Given the description of an element on the screen output the (x, y) to click on. 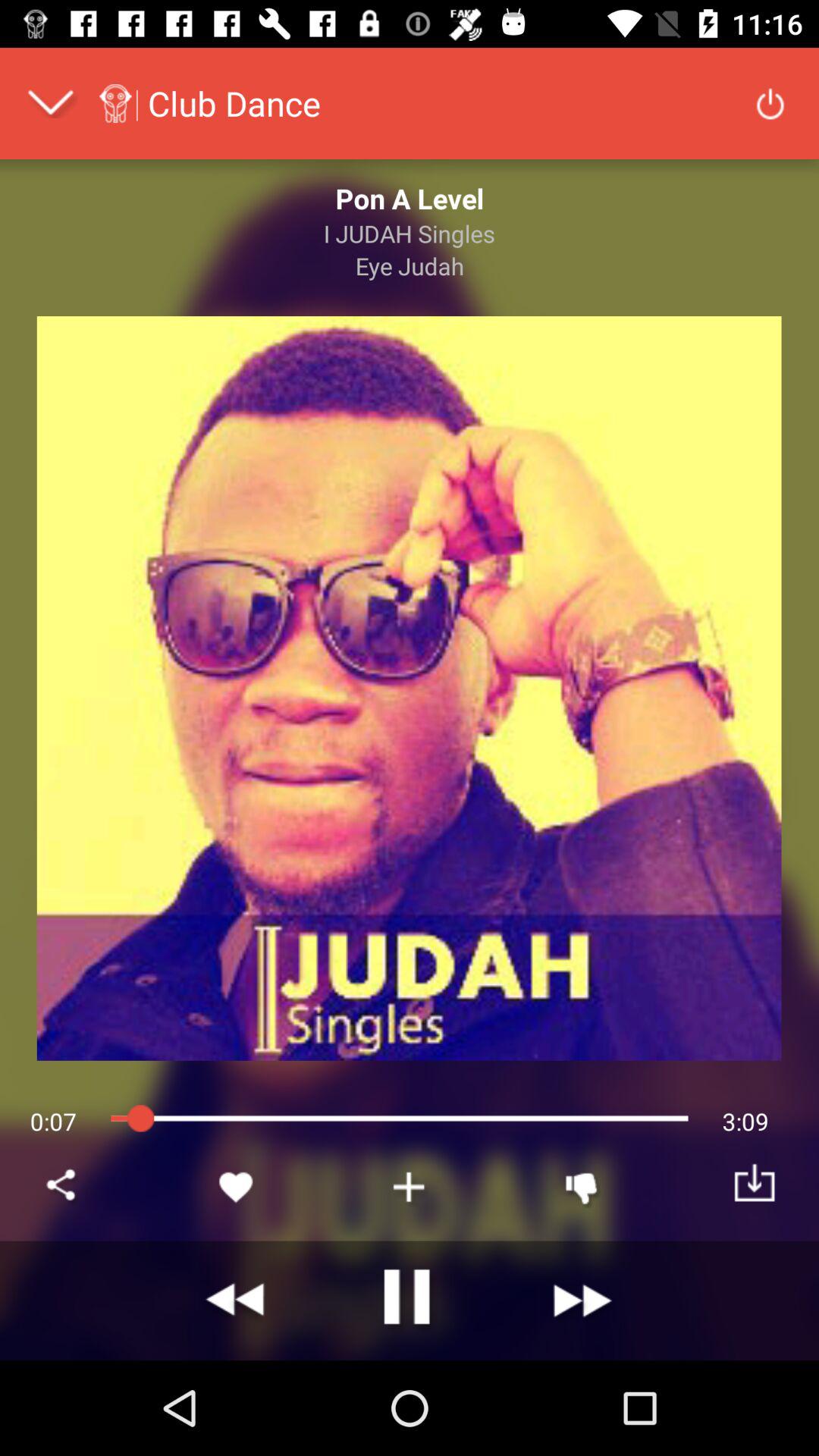
choose icon to the right of the club dance item (770, 102)
